Given the description of an element on the screen output the (x, y) to click on. 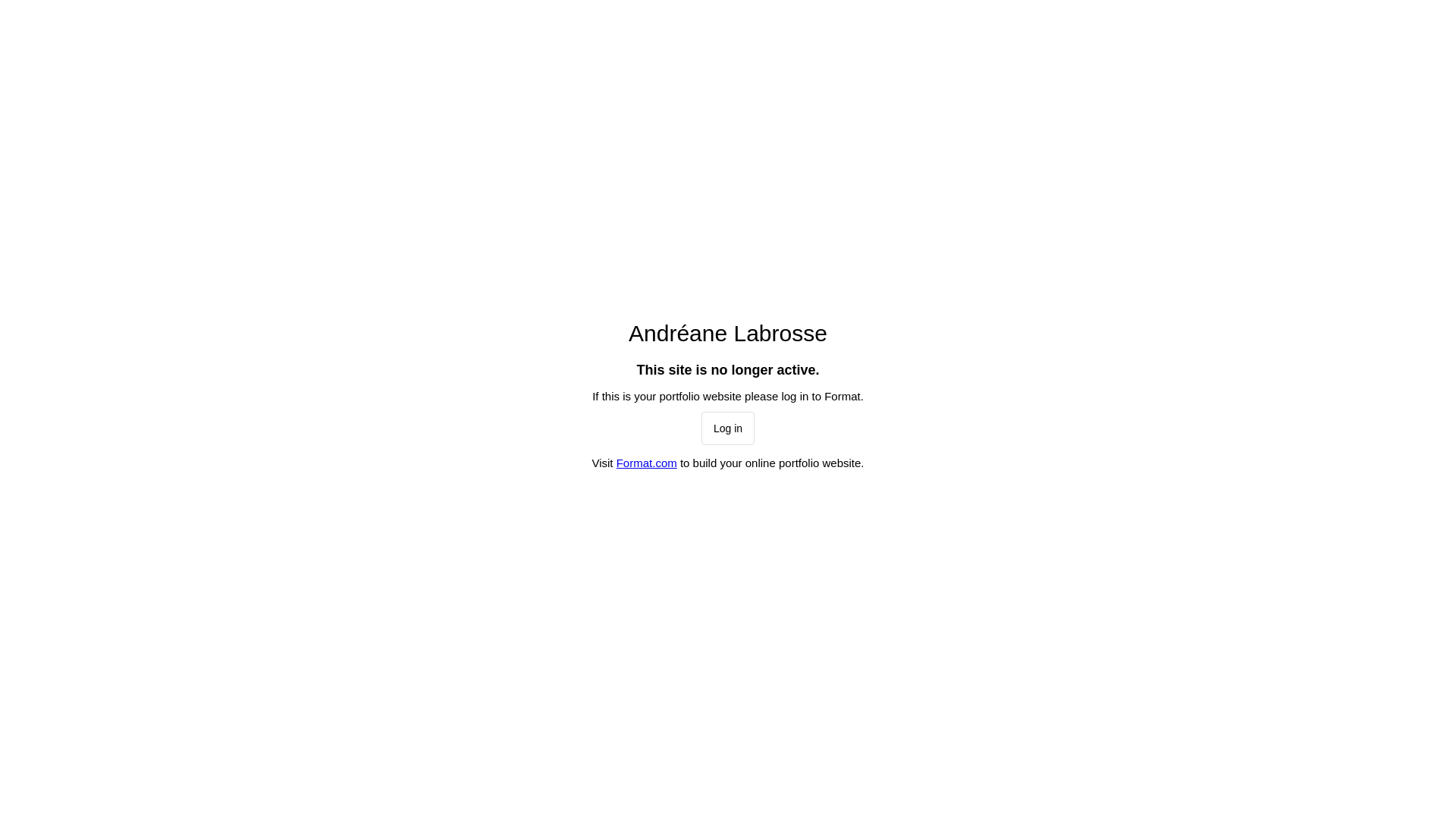
Log in Element type: text (727, 428)
Format.com Element type: text (646, 462)
